Given the description of an element on the screen output the (x, y) to click on. 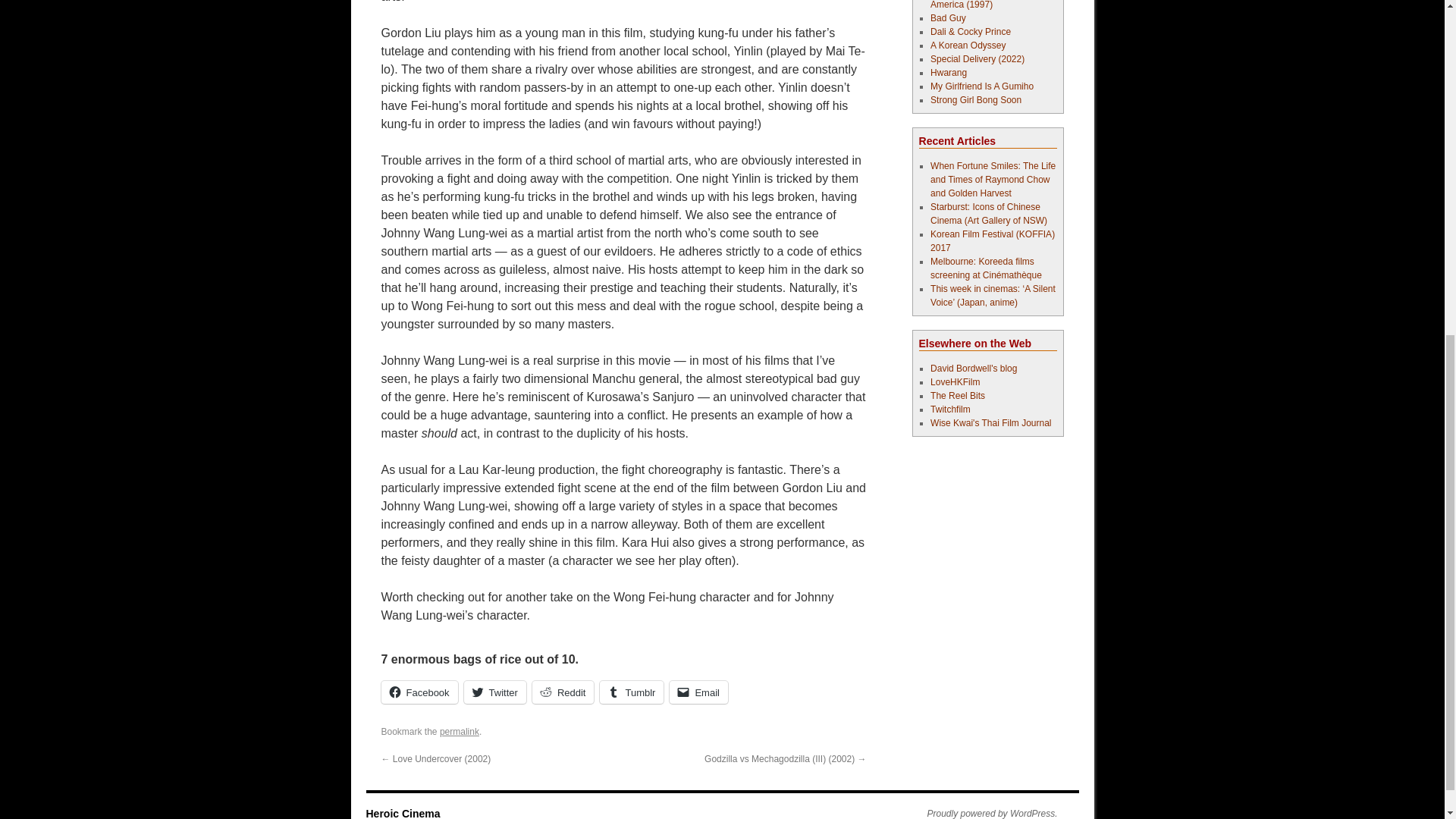
Click to share on Tumblr (631, 691)
Twitter (494, 691)
permalink (459, 731)
Click to share on Twitter (494, 691)
Click to share on Facebook (418, 691)
Bad Guy (948, 18)
Facebook (418, 691)
Movie news and reviews from fellow Aussies! (957, 395)
Click to email a link to a friend (698, 691)
Two thousand HK film reviews and counting! (954, 381)
